Given the description of an element on the screen output the (x, y) to click on. 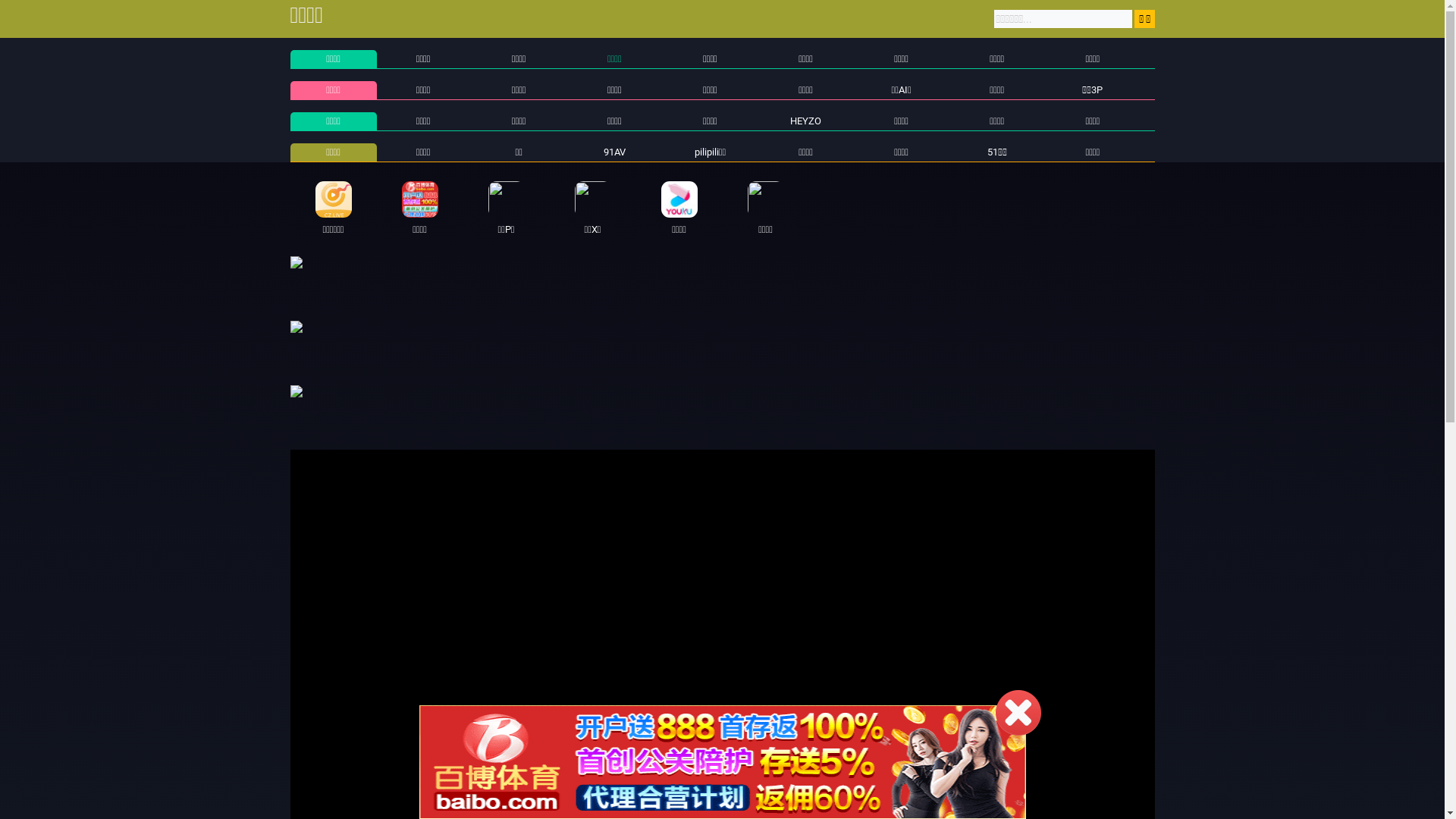
91AV Element type: text (614, 151)
HEYZO Element type: text (805, 120)
